Given the description of an element on the screen output the (x, y) to click on. 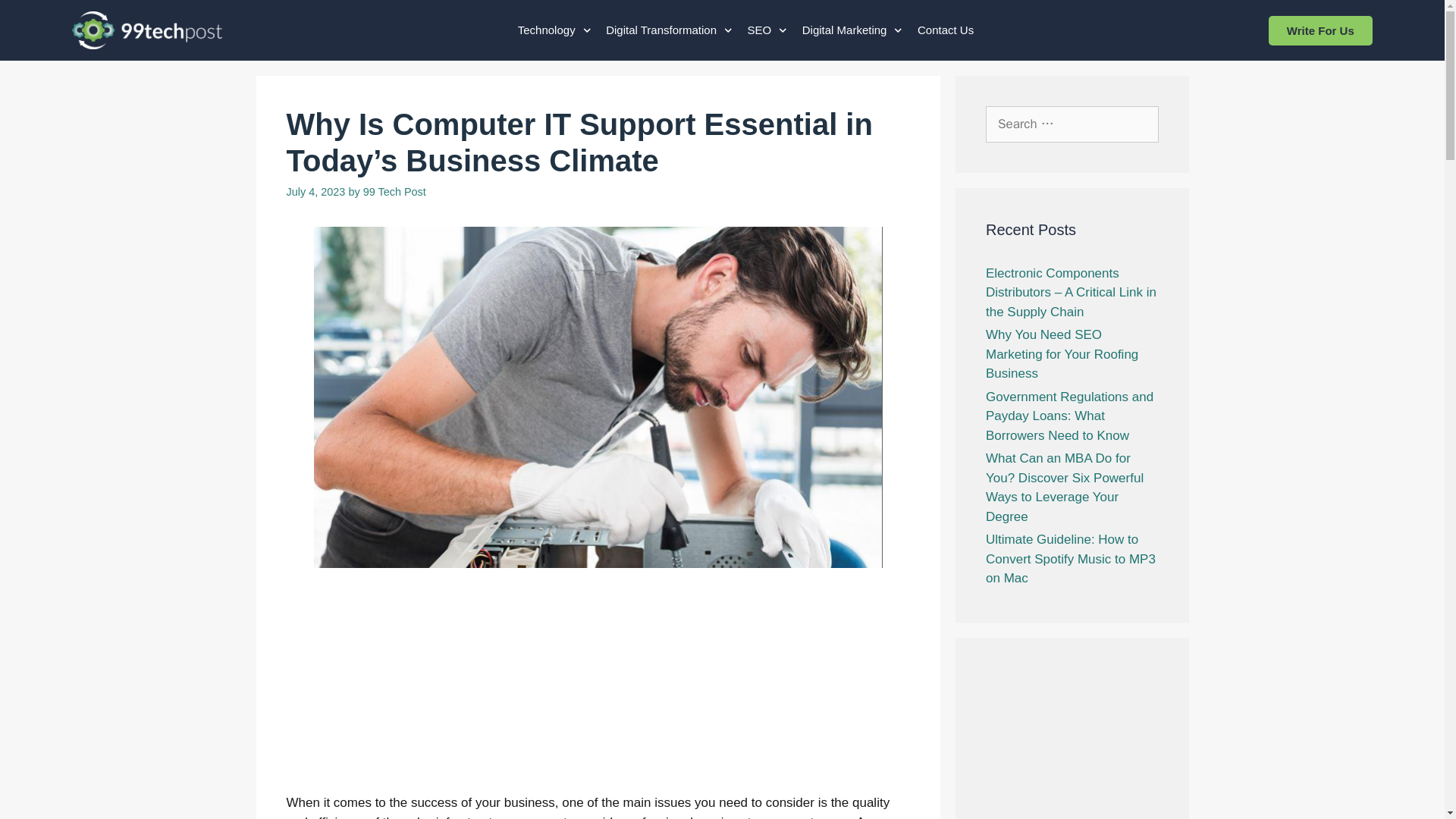
SEO (767, 29)
View all posts by 99 Tech Post (394, 191)
6:42 am (316, 191)
Digital Transformation (668, 29)
Technology (554, 29)
Search for: (1071, 124)
Advertisement (598, 690)
